Given the description of an element on the screen output the (x, y) to click on. 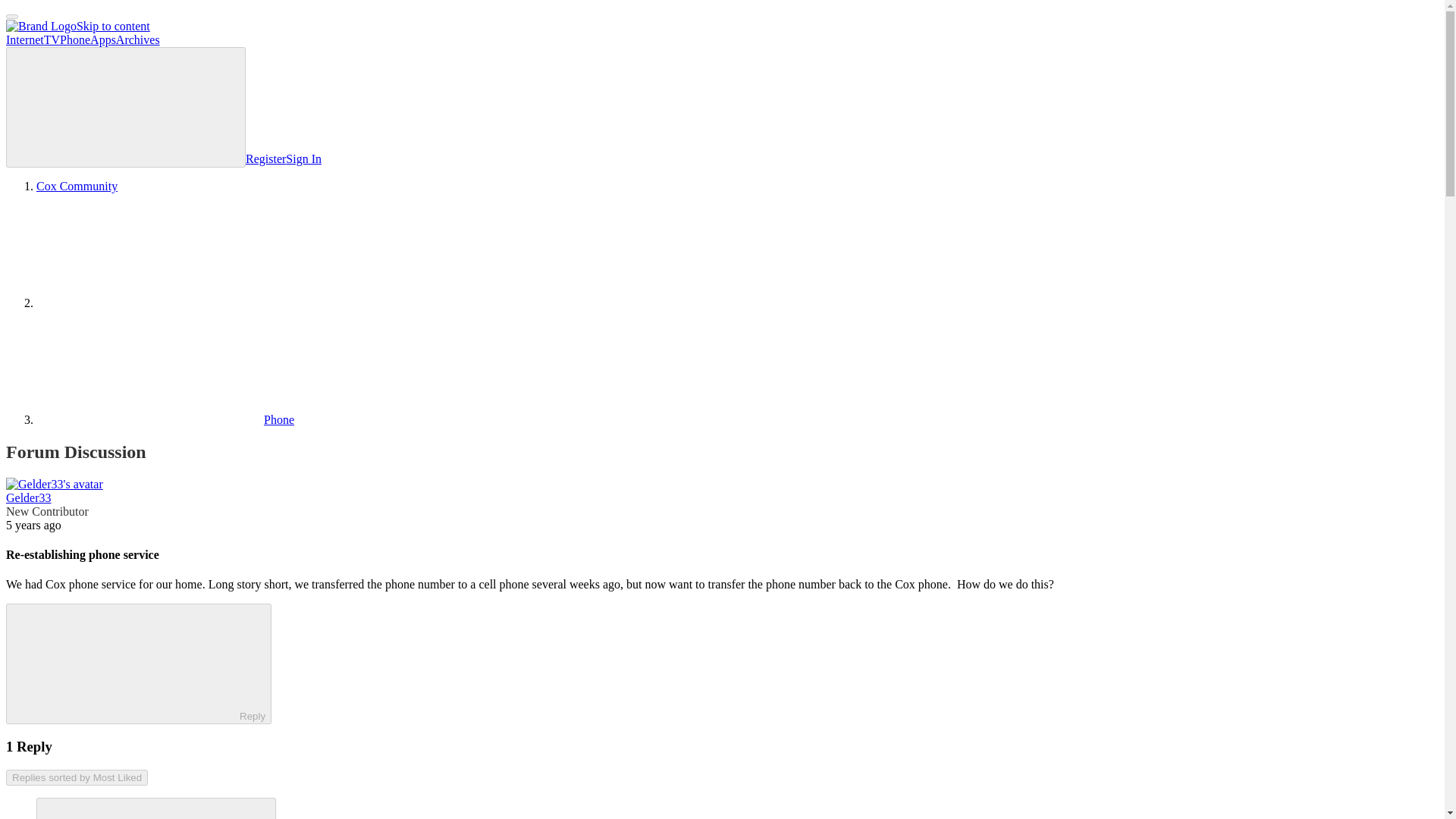
Register (265, 158)
Archives (138, 39)
Replies sorted by Most Liked (76, 777)
February 4, 2020 at 3:38 AM (33, 524)
Gelder33 (27, 497)
TV (51, 39)
Cox Community (76, 185)
Reply (125, 662)
Apps (103, 39)
Internet (24, 39)
Phone (74, 39)
Phone (165, 419)
Search (125, 106)
Sign In (303, 158)
Skip to content (113, 25)
